Given the description of an element on the screen output the (x, y) to click on. 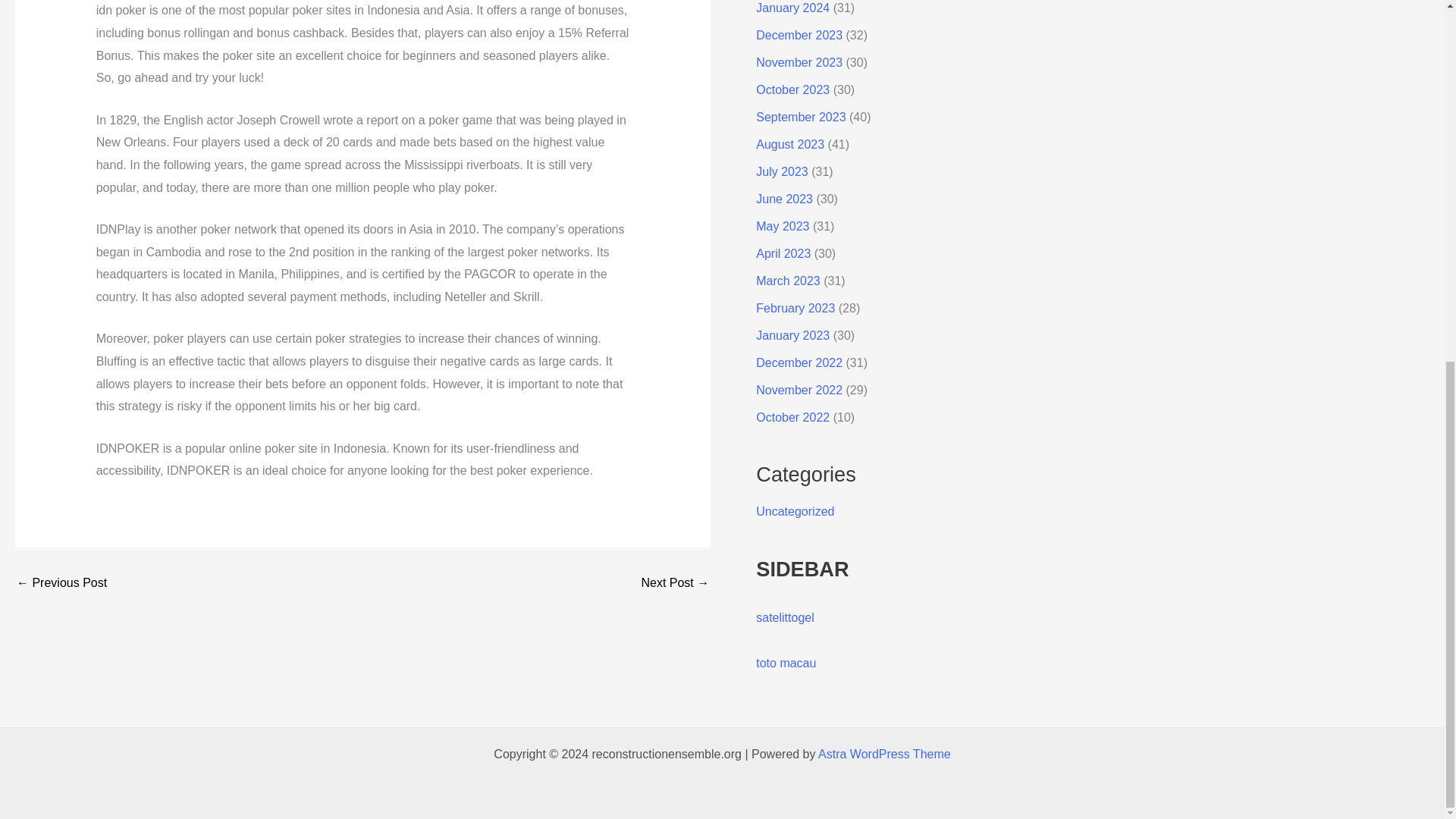
August 2023 (789, 144)
October 2023 (792, 89)
June 2023 (783, 198)
satelittogel (784, 617)
Uncategorized (794, 511)
January 2024 (792, 7)
toto macau (785, 662)
November 2023 (799, 62)
May 2023 (782, 226)
December 2022 (799, 362)
